Given the description of an element on the screen output the (x, y) to click on. 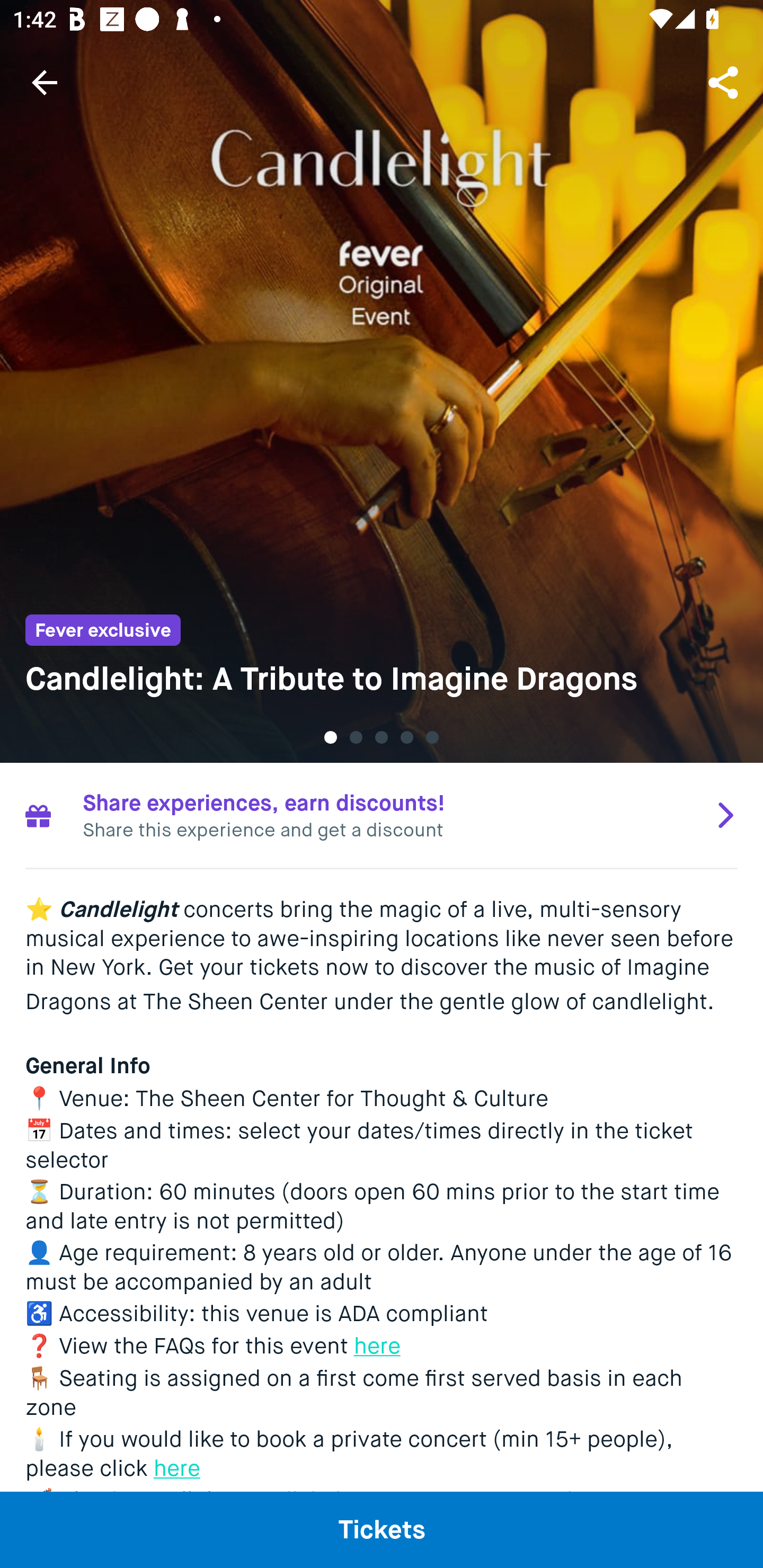
Navigate up (44, 82)
Share (724, 81)
Tickets (381, 1529)
